Given the description of an element on the screen output the (x, y) to click on. 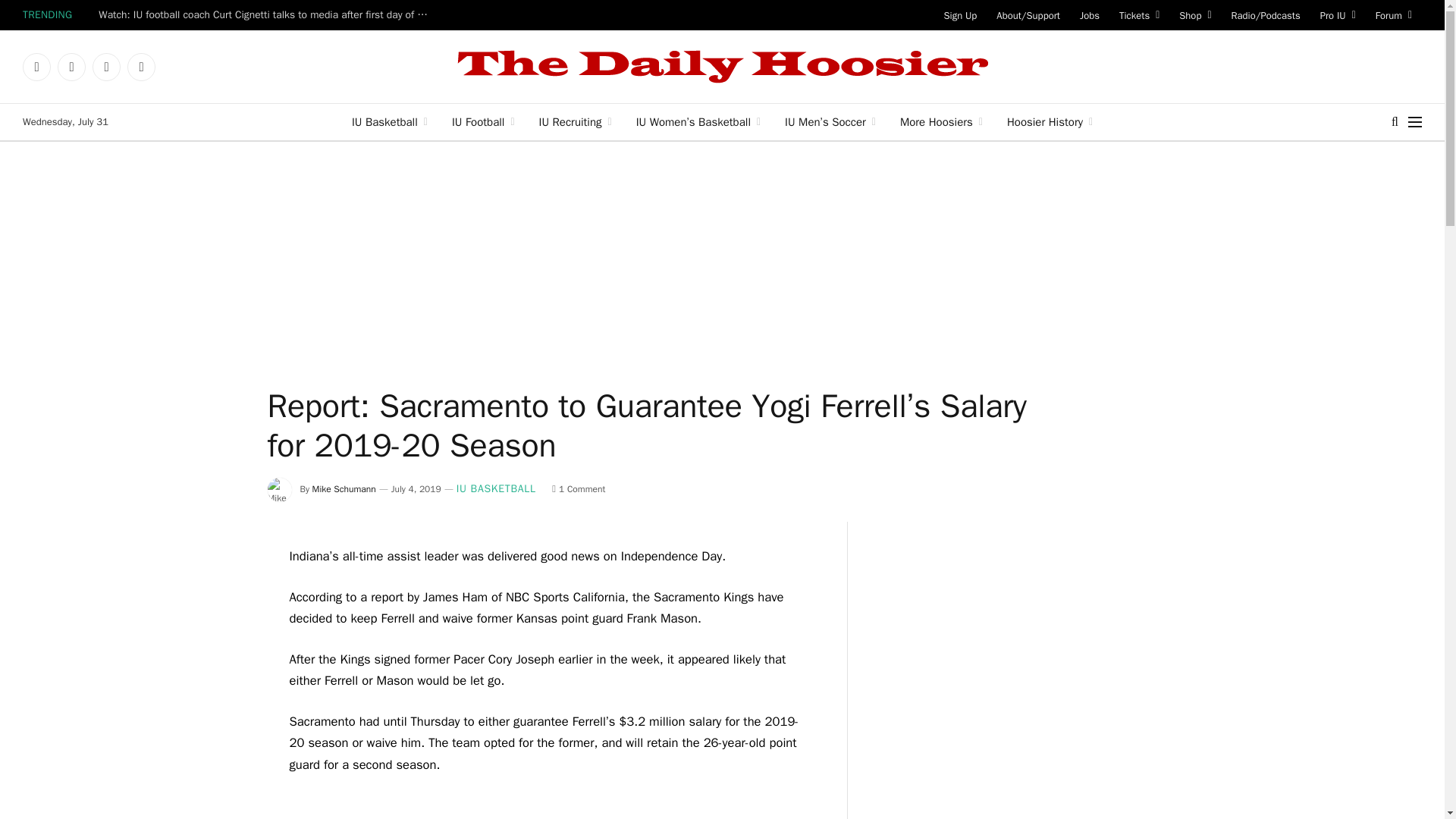
YouTube (141, 67)
Tickets (1139, 15)
Instagram (106, 67)
Posts by Mike Schumann (344, 489)
Pro IU (1337, 15)
Facebook (36, 67)
IU Basketball (389, 122)
Shop (1195, 15)
Forum (1393, 15)
The Daily Hoosier (722, 66)
Sign Up (960, 15)
Jobs (1089, 15)
